Given the description of an element on the screen output the (x, y) to click on. 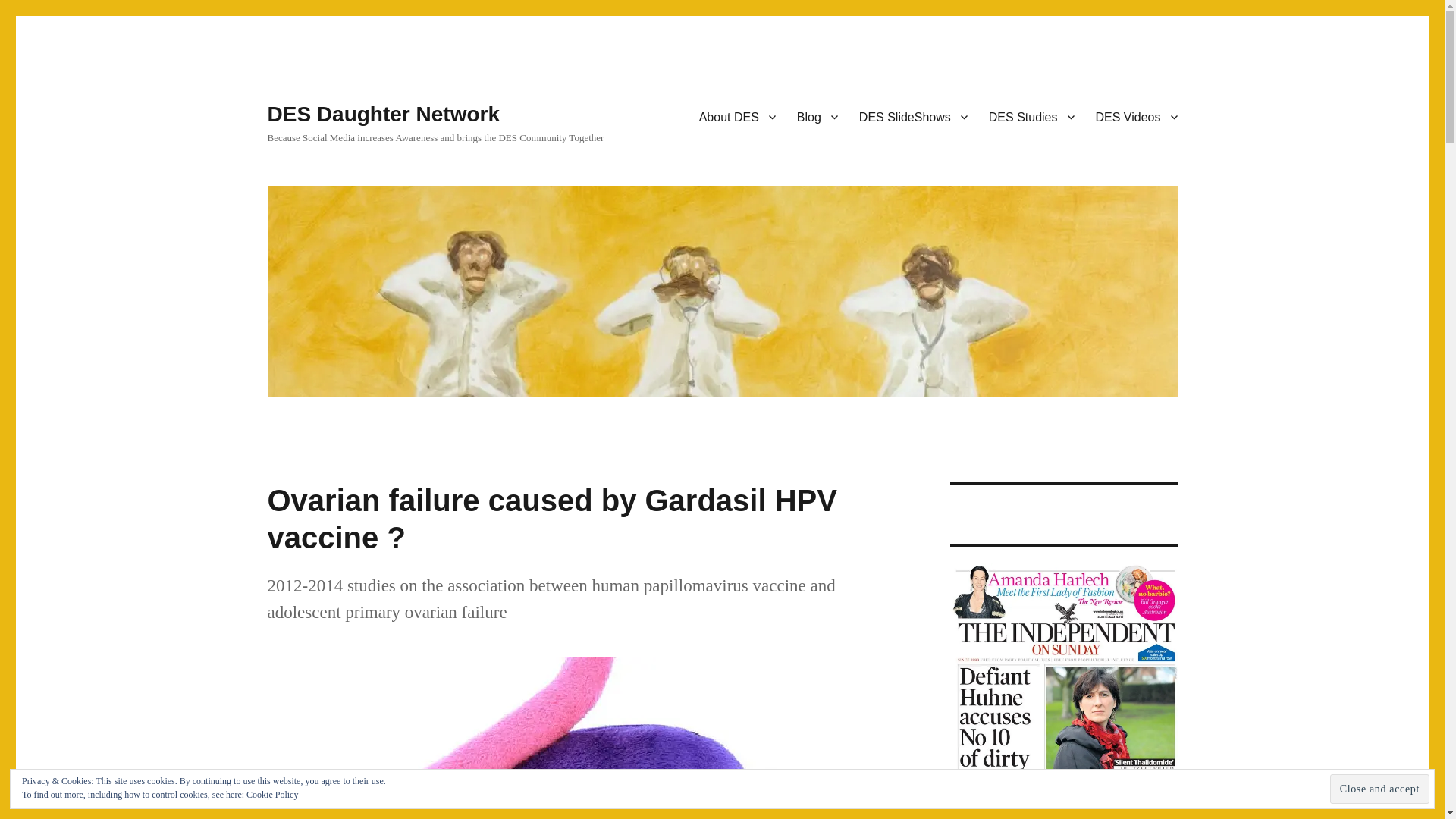
DES SlideShows (913, 116)
Close and accept (1379, 788)
DES Daughter Network (382, 114)
Blog (817, 116)
About DES (737, 116)
All posts (817, 116)
DES Studies (1031, 116)
DES Videos (1136, 116)
